Given the description of an element on the screen output the (x, y) to click on. 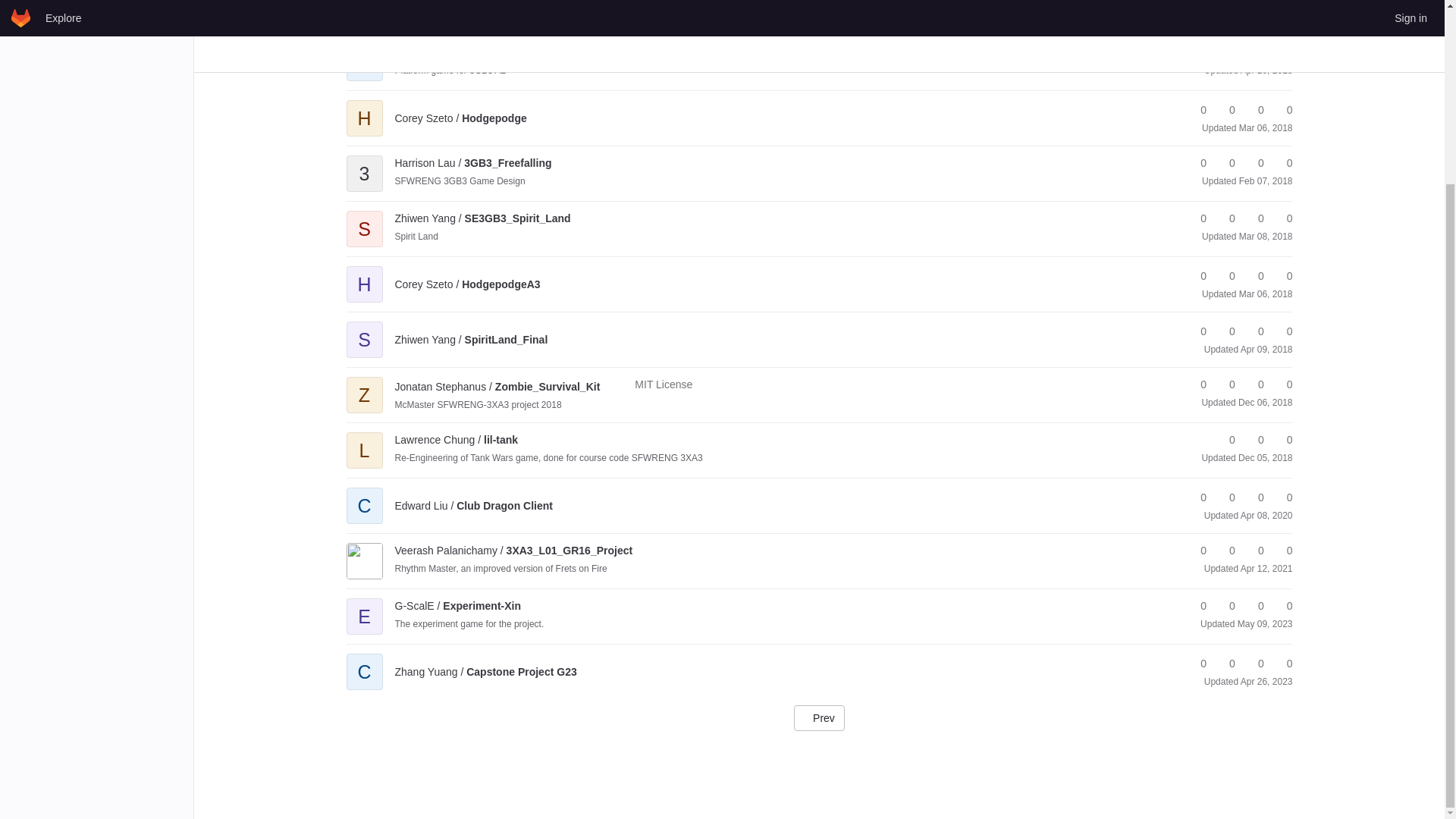
S (363, 218)
Forks (1224, 52)
0 (1282, 52)
0 (1282, 2)
0 (1196, 2)
3 (363, 162)
0 (1196, 109)
Apr 10, 2018 6:56am (1266, 70)
0 (1253, 52)
0 (1253, 2)
